Given the description of an element on the screen output the (x, y) to click on. 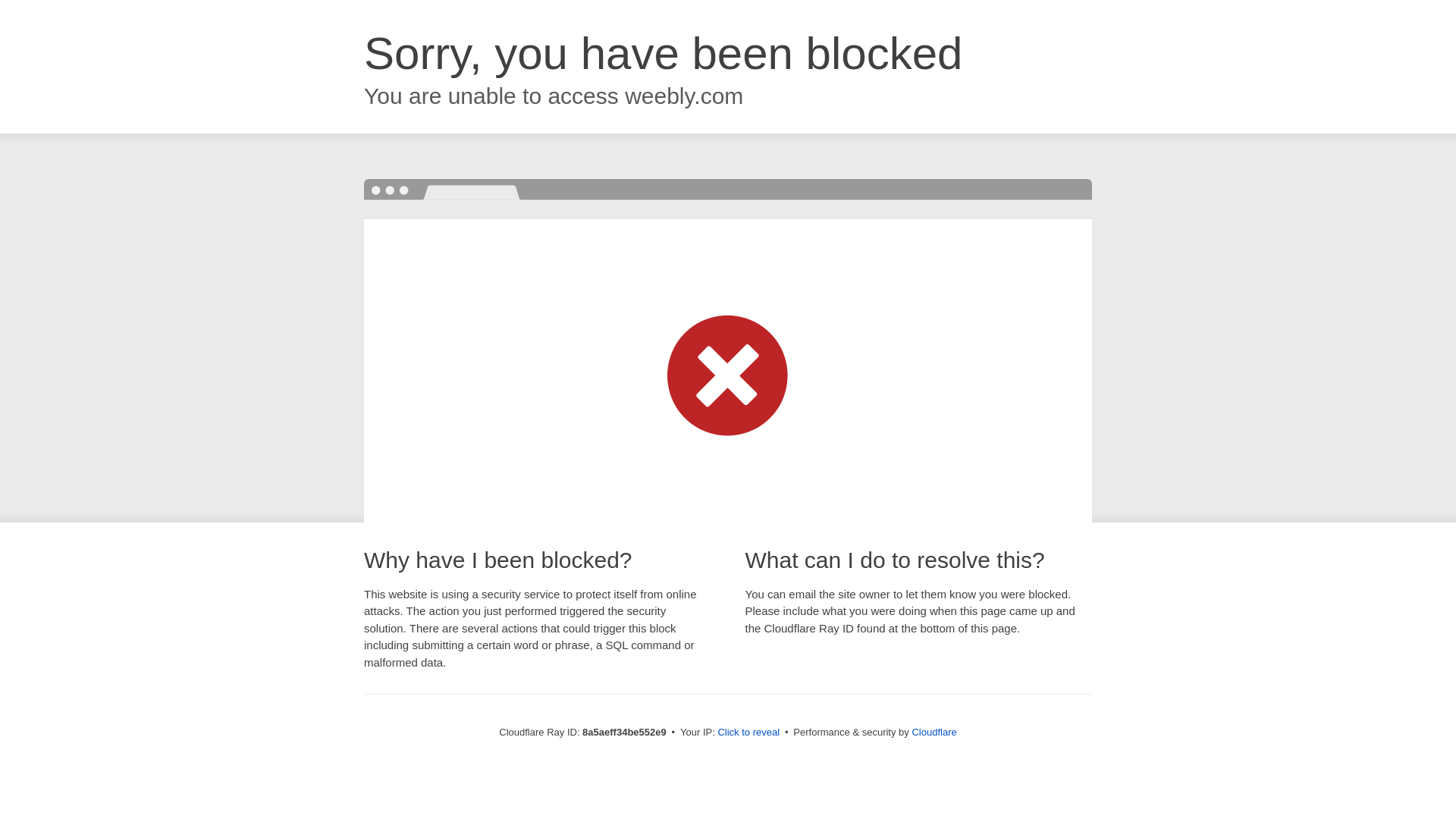
Cloudflare (933, 731)
Click to reveal (747, 732)
